Given the description of an element on the screen output the (x, y) to click on. 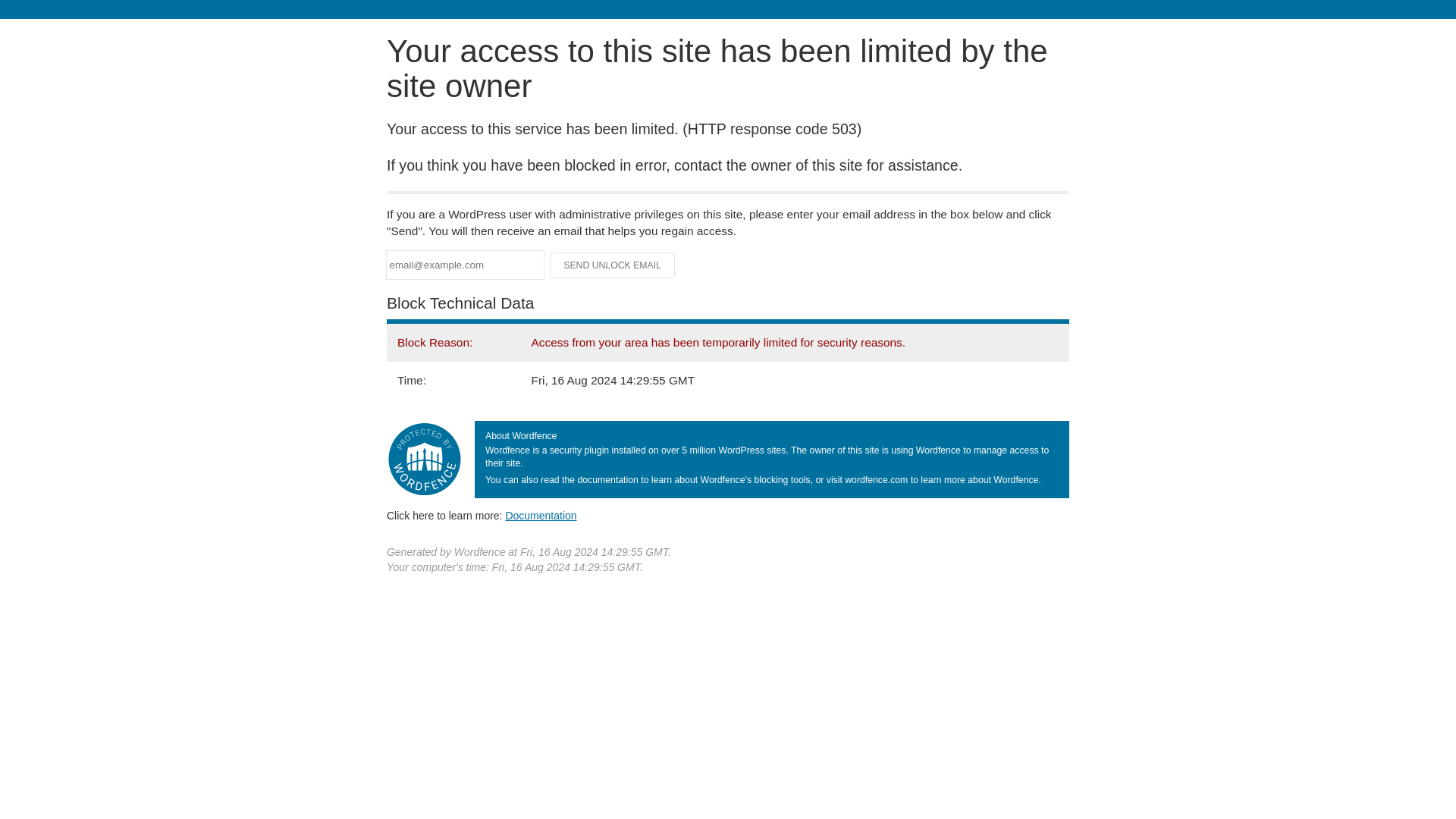
Send Unlock Email (612, 265)
Documentation (540, 515)
Send Unlock Email (612, 265)
